Given the description of an element on the screen output the (x, y) to click on. 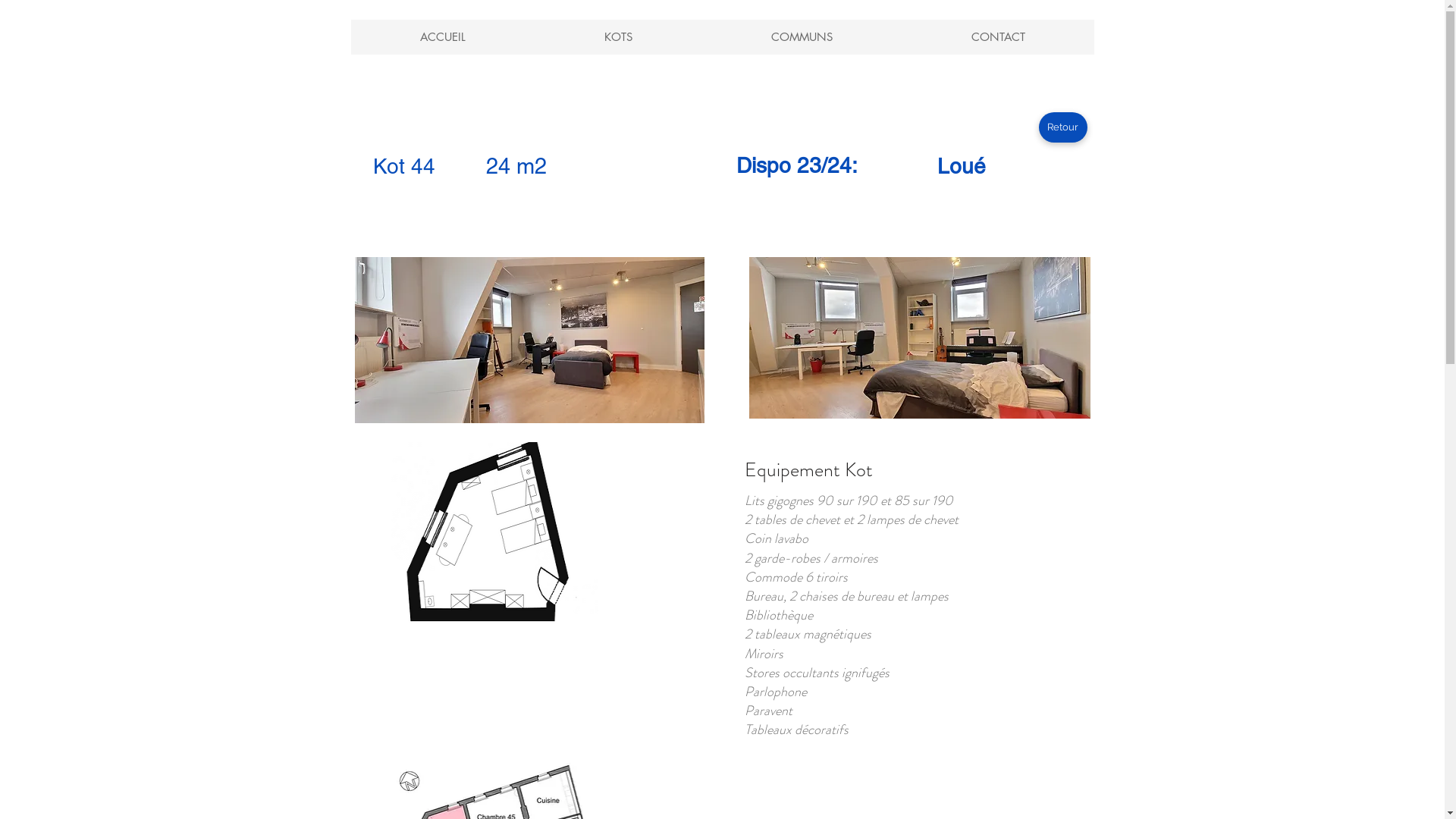
ACCUEIL Element type: text (441, 36)
CONTACT Element type: text (996, 36)
chambre 44.jpg Element type: hover (919, 337)
Chambre 44_Plan.png Element type: hover (484, 536)
COMMUNS Element type: text (800, 36)
44 era.jpg Element type: hover (529, 340)
KOTS Element type: text (616, 36)
Retour Element type: text (1062, 127)
